Given the description of an element on the screen output the (x, y) to click on. 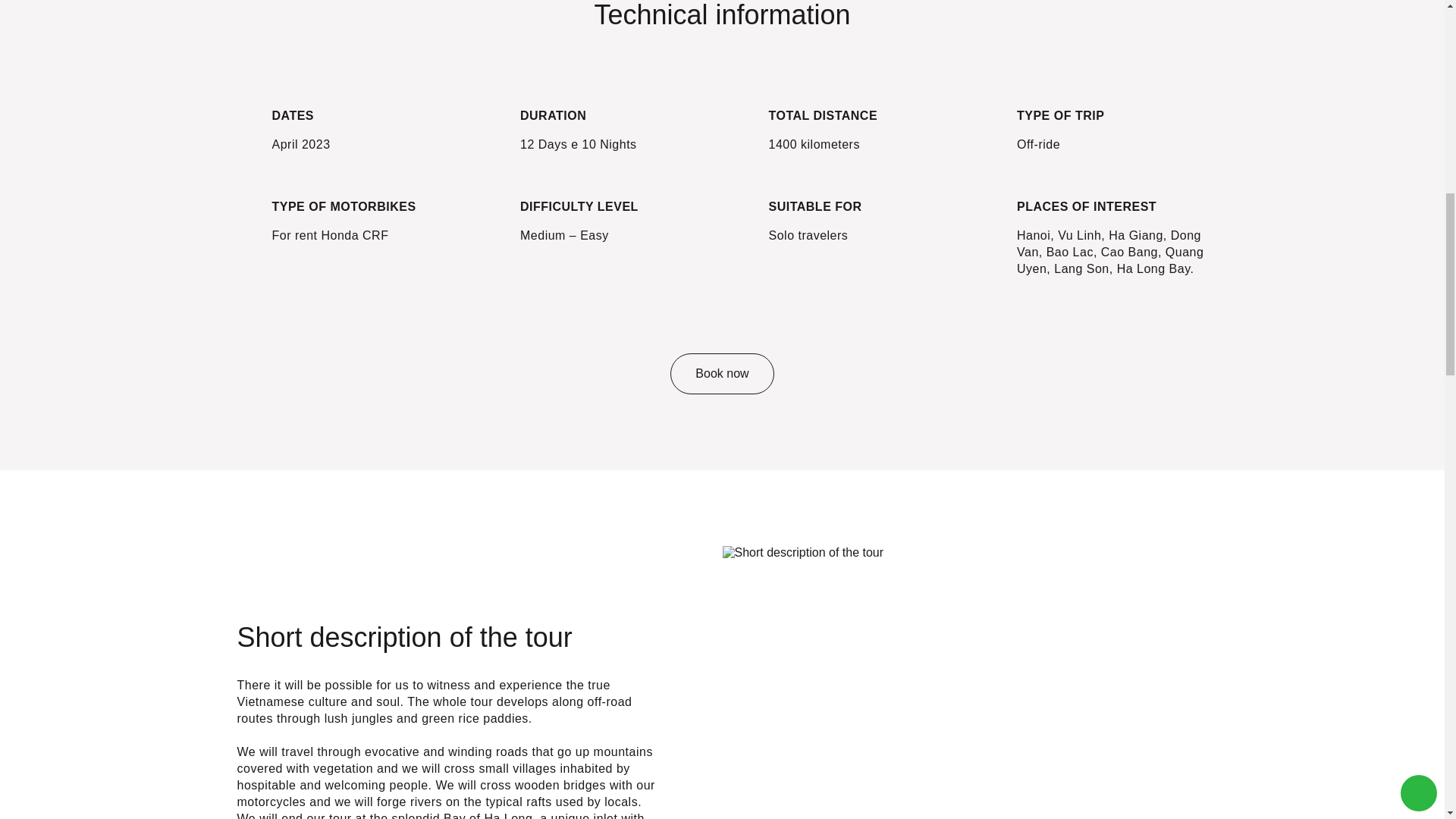
Book now (721, 372)
Book now (721, 372)
Book now (721, 372)
